Given the description of an element on the screen output the (x, y) to click on. 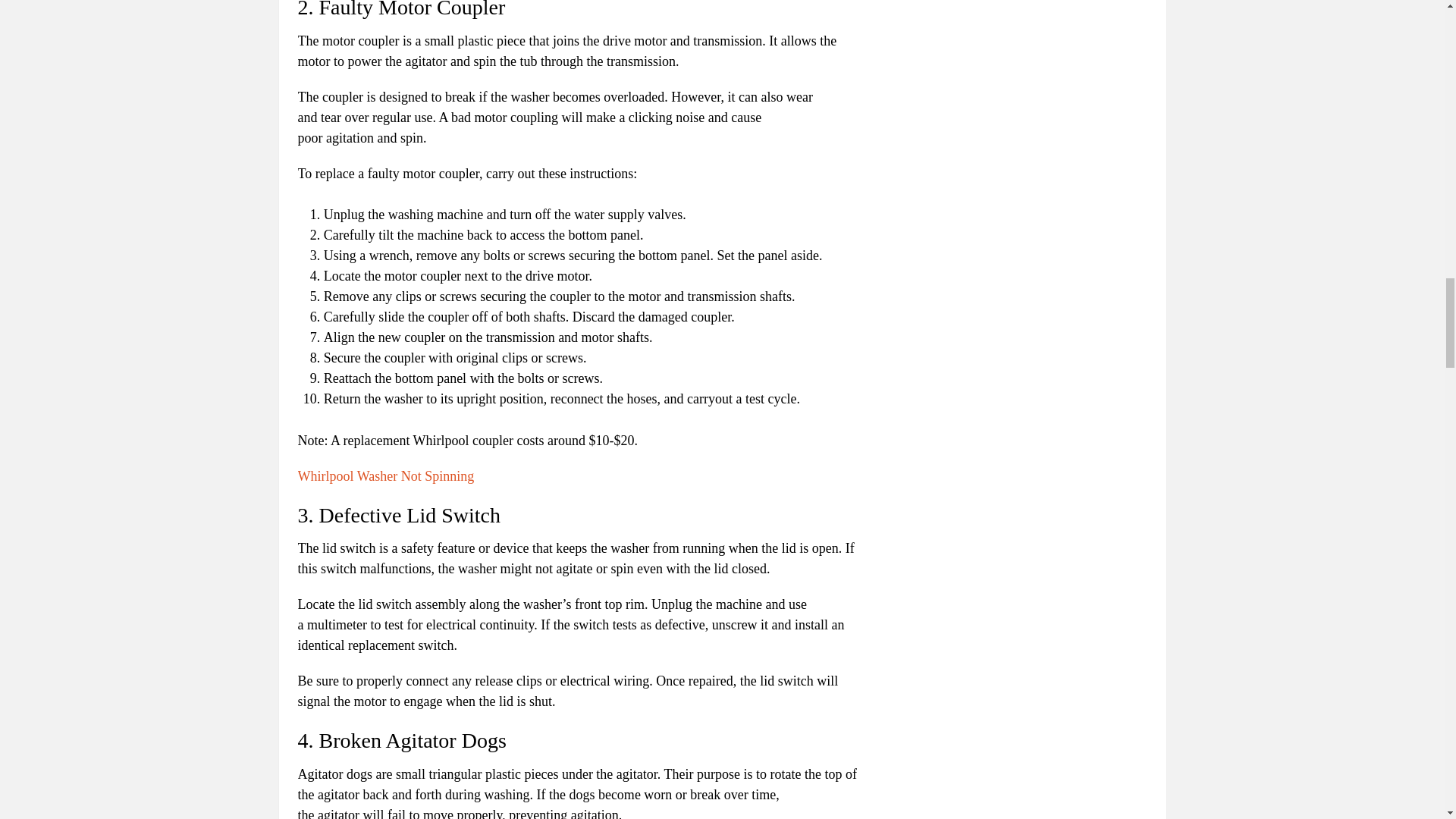
Whirlpool Washer Not Spinning (385, 476)
